Given the description of an element on the screen output the (x, y) to click on. 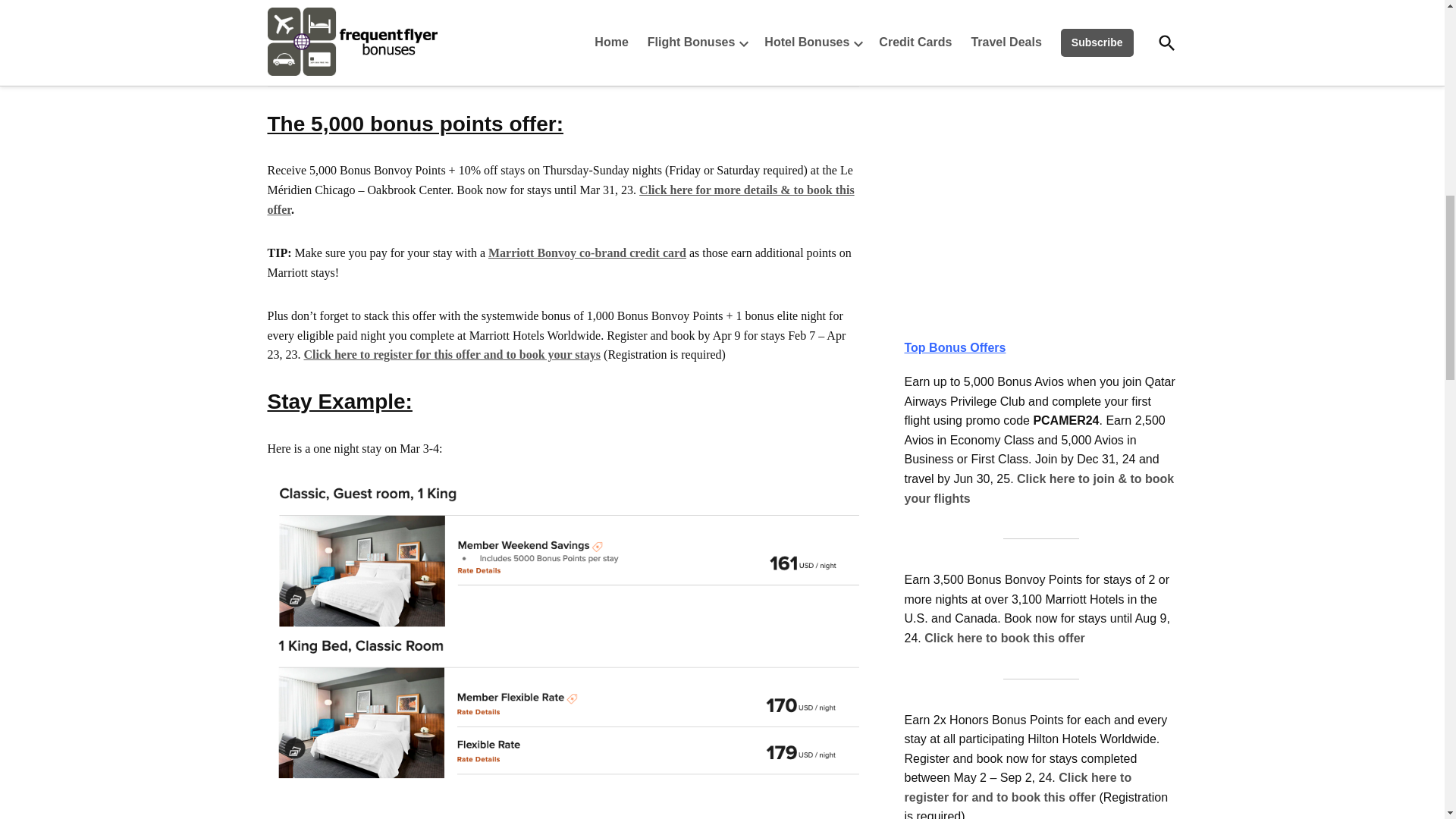
Subscribe (1040, 16)
